Given the description of an element on the screen output the (x, y) to click on. 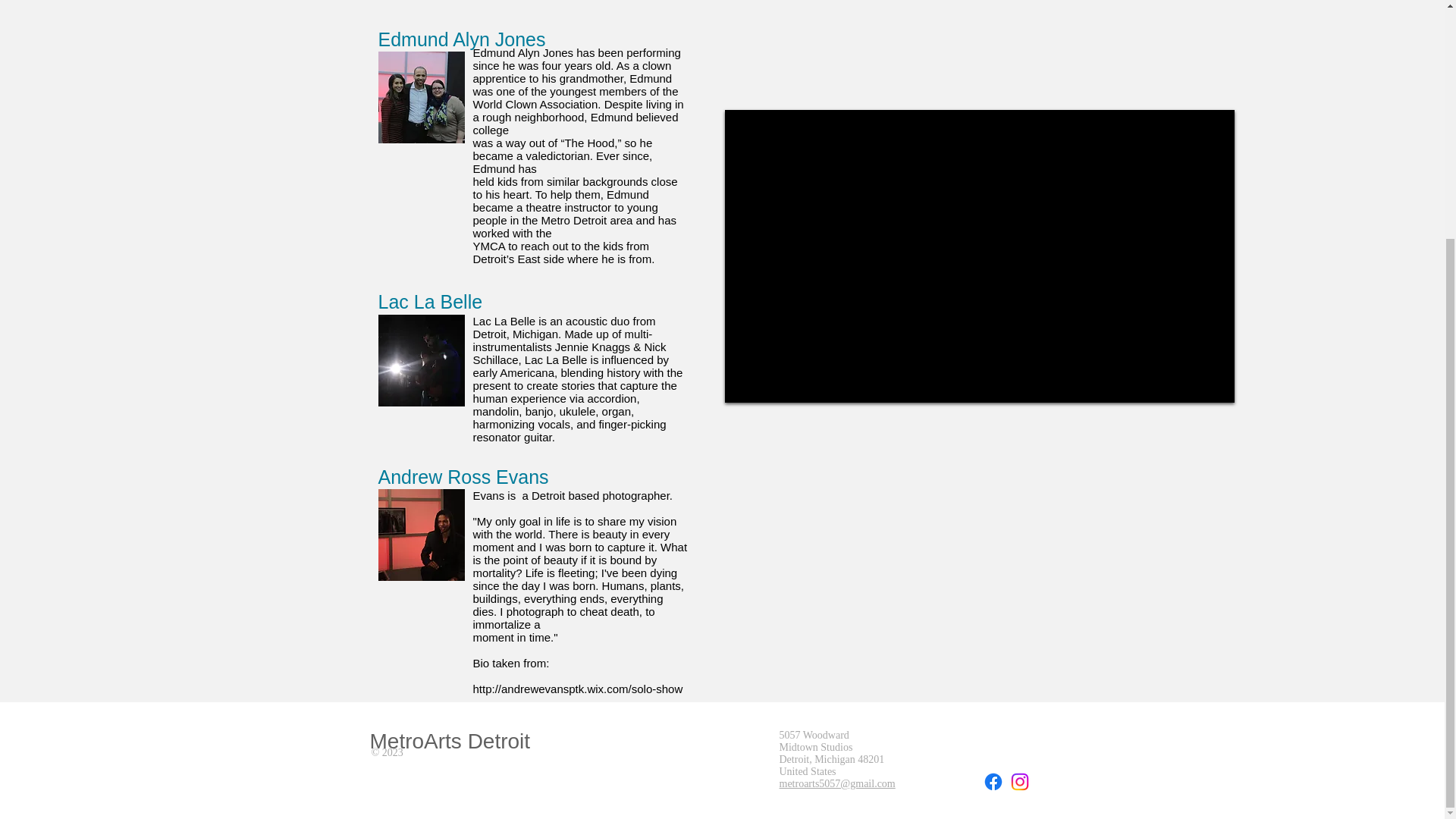
edmund.JPG (420, 97)
andrew.JPG (420, 534)
loc.JPG (420, 360)
